Given the description of an element on the screen output the (x, y) to click on. 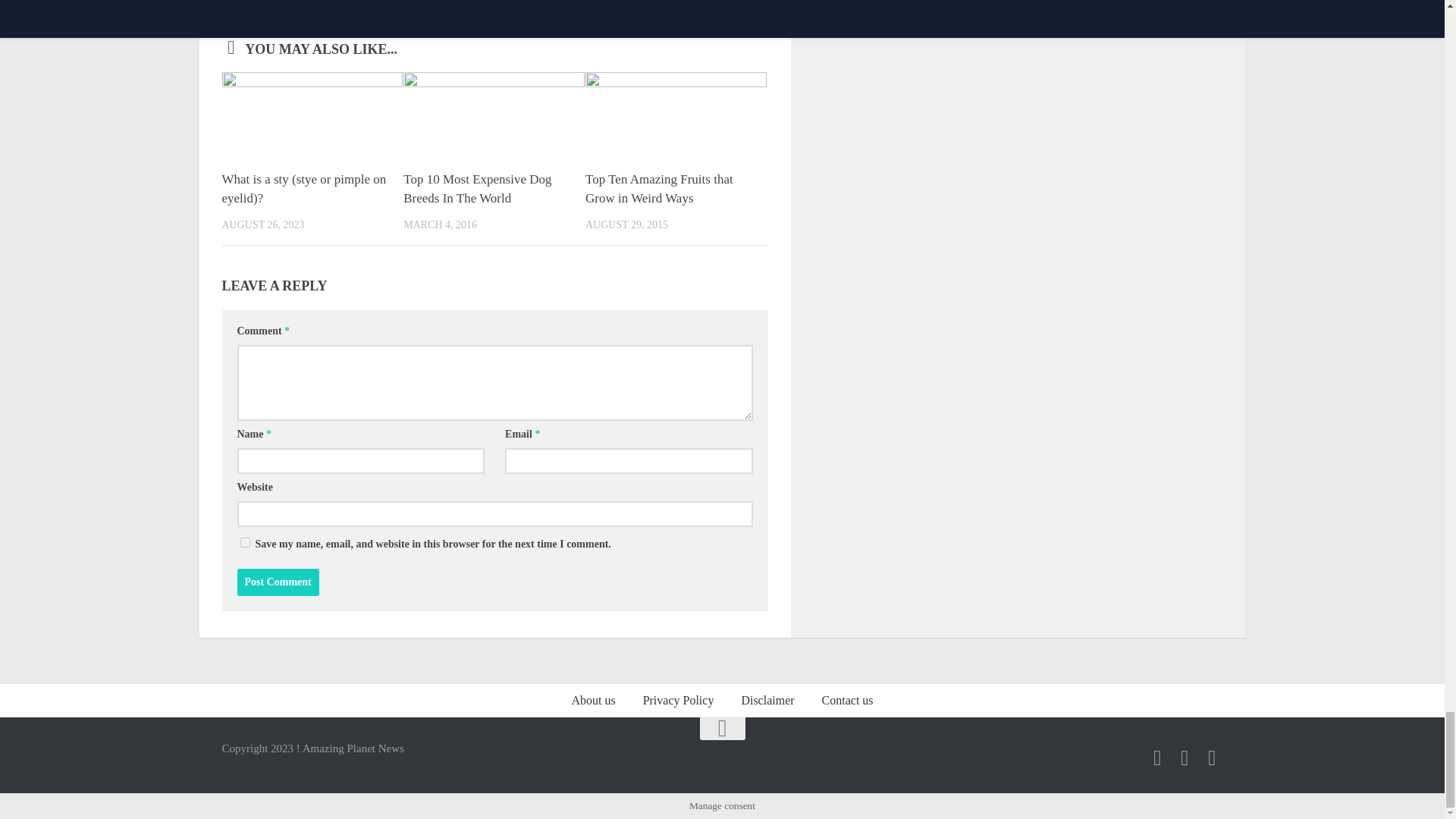
Post Comment (276, 582)
Green Tea (281, 3)
yes (244, 542)
Fruits (237, 3)
